Given the description of an element on the screen output the (x, y) to click on. 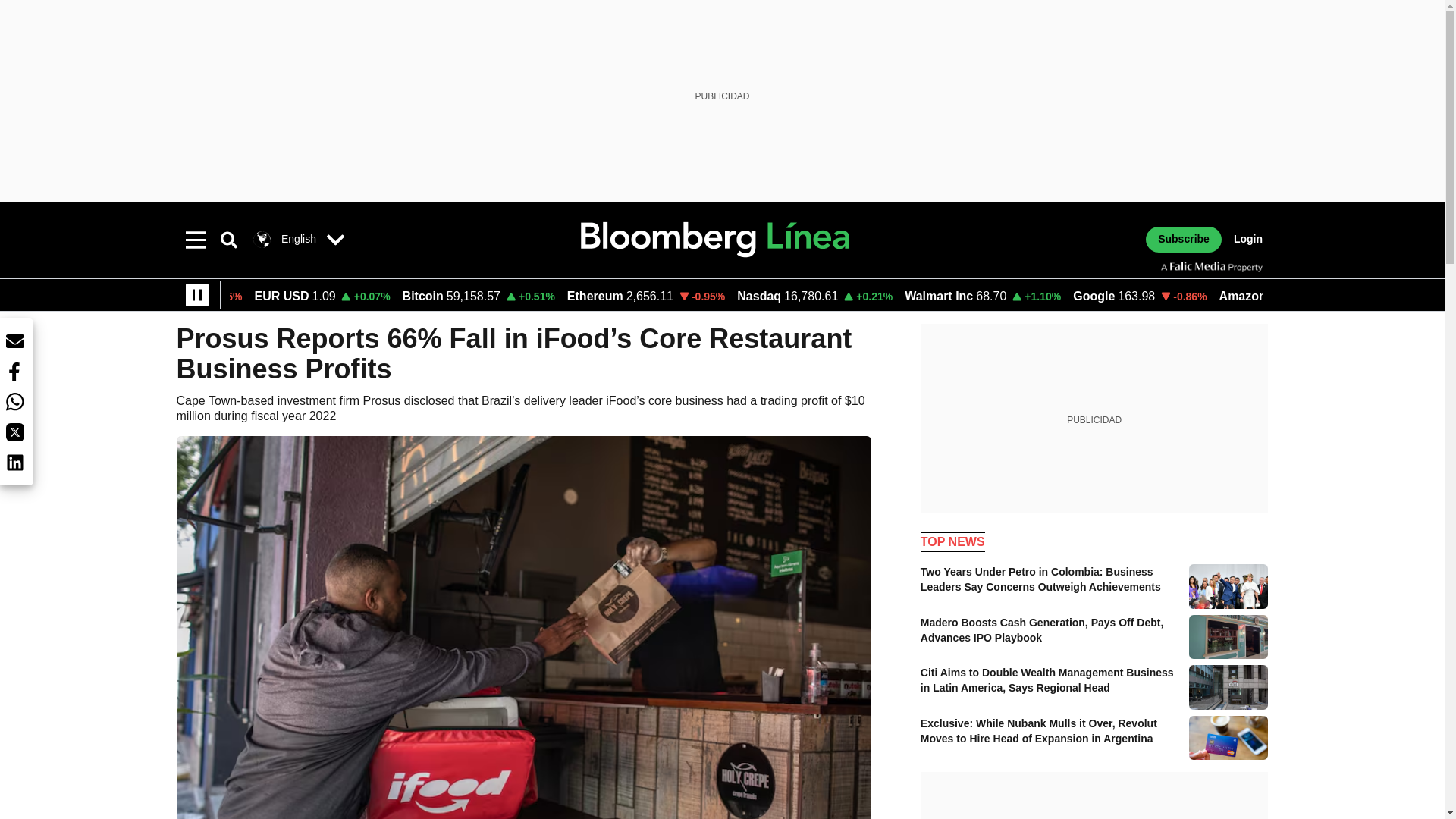
Subscribe (1183, 239)
Login (1247, 239)
English (281, 239)
